Given the description of an element on the screen output the (x, y) to click on. 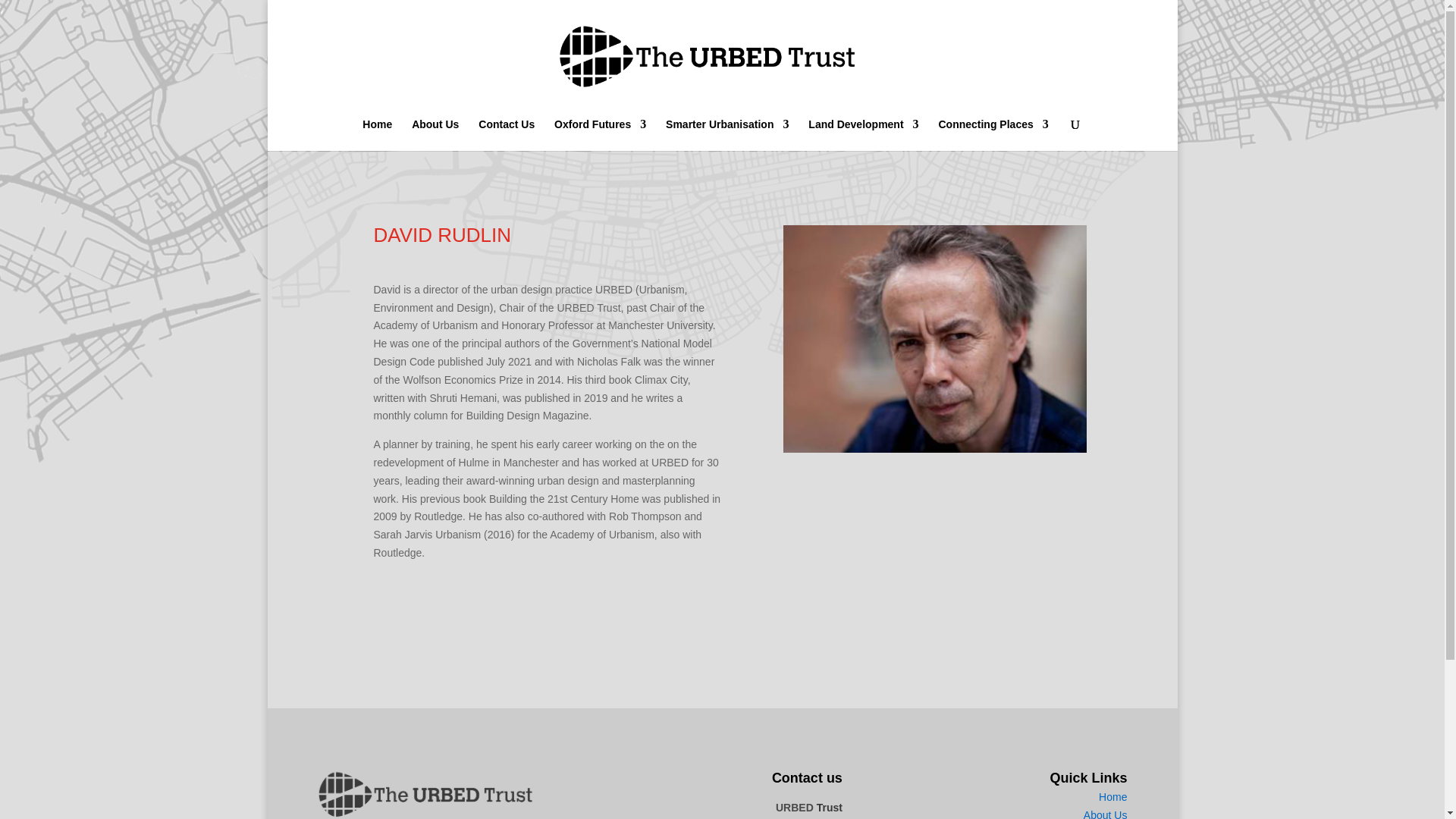
Home (376, 134)
About Us (435, 134)
Smarter Urbanisation (727, 134)
Contact Us (506, 134)
Connecting Places (992, 134)
Land Development (863, 134)
Oxford Futures (600, 134)
